Given the description of an element on the screen output the (x, y) to click on. 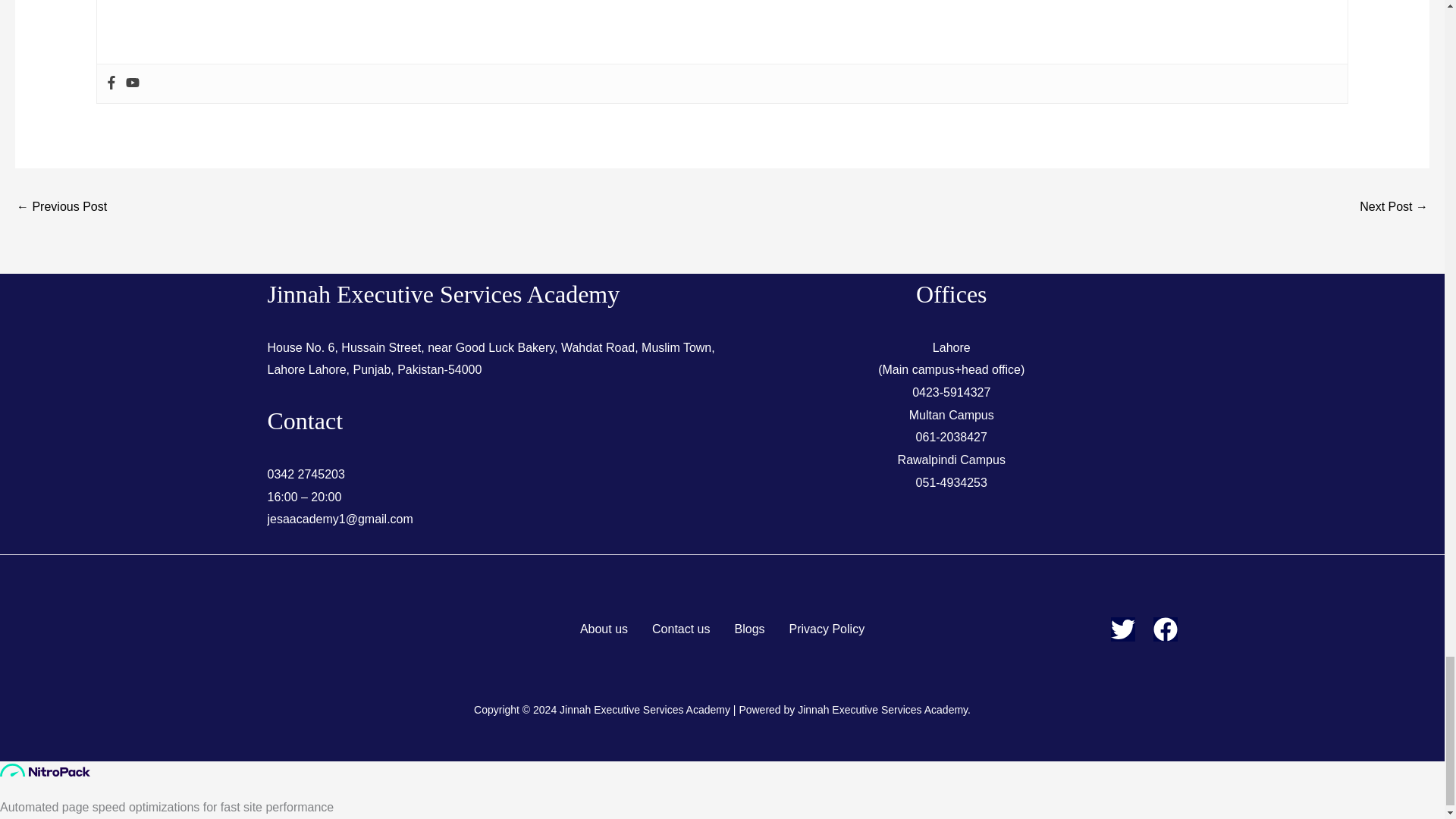
Ultimate Guide to CSS Exam Preparation: Tips and Strategies (61, 207)
PMS Exam Study Strategies: What Works and What Doesn't (1393, 207)
About us (603, 629)
Blogs (749, 629)
Contact us (681, 629)
Privacy Policy (827, 629)
